Given the description of an element on the screen output the (x, y) to click on. 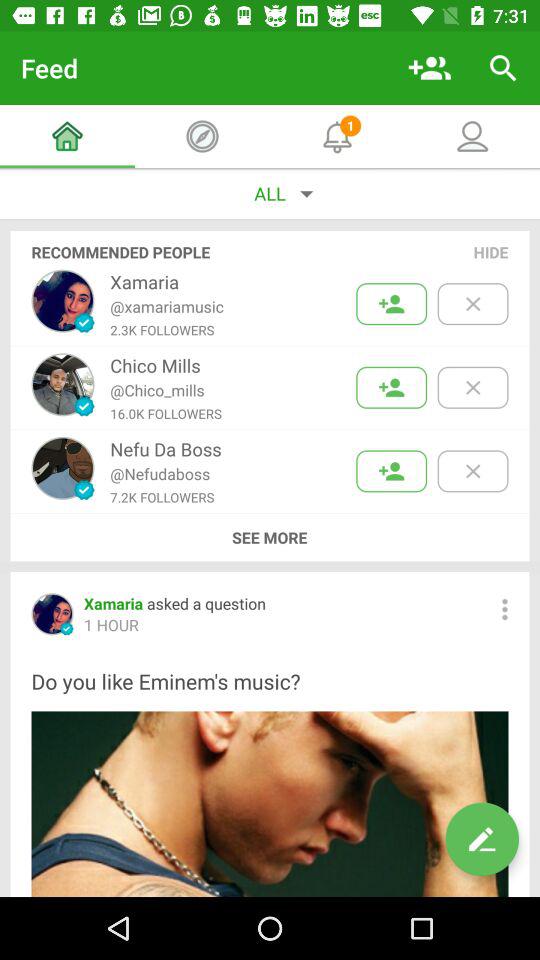
follow user (391, 303)
